Given the description of an element on the screen output the (x, y) to click on. 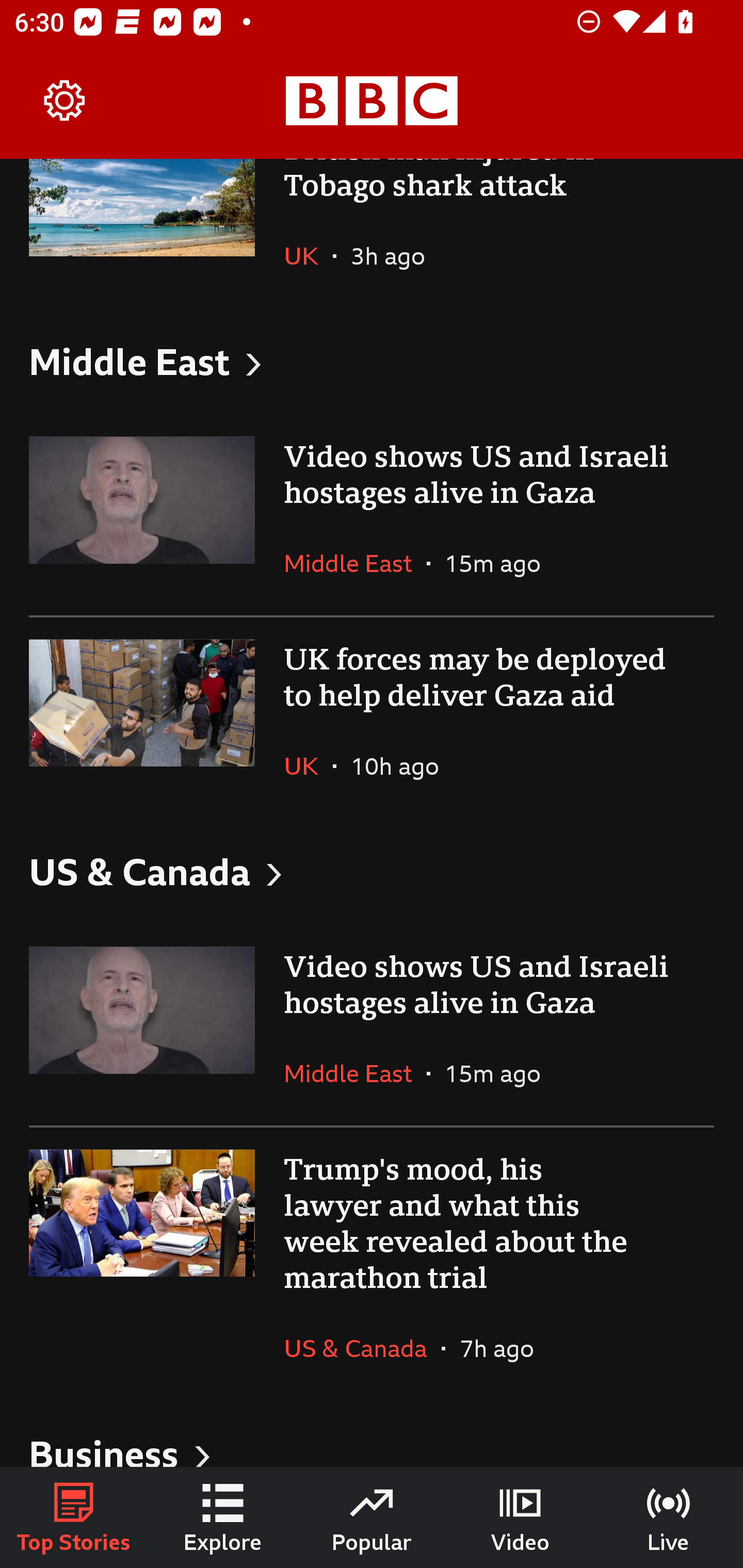
Settings (64, 100)
UK In the section UK (307, 255)
Middle East, Heading Middle East    (371, 360)
Middle East In the section Middle East (354, 562)
UK In the section UK (307, 765)
US & Canada, Heading US & Canada    (371, 871)
Middle East In the section Middle East (354, 1072)
US & Canada In the section US & Canada (362, 1348)
Business, Heading Business    (371, 1433)
Explore (222, 1517)
Popular (371, 1517)
Video (519, 1517)
Live (668, 1517)
